Given the description of an element on the screen output the (x, y) to click on. 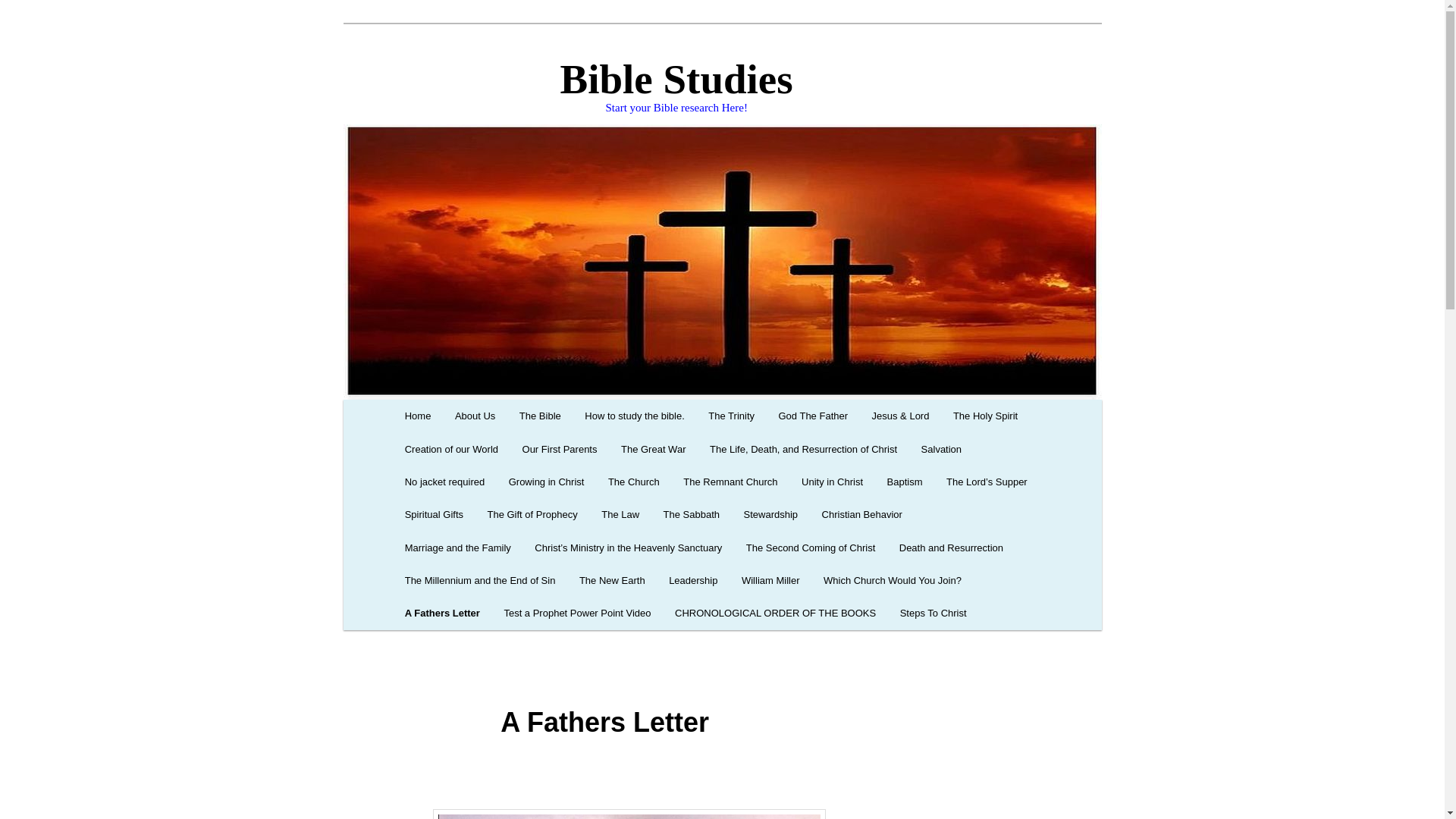
The Second Coming of Christ Element type: text (810, 547)
Christian Behavior Element type: text (861, 514)
Spiritual Gifts Element type: text (433, 514)
The Sabbath Element type: text (691, 514)
Test a Prophet Power Point Video Element type: text (577, 612)
The Holy Spirit Element type: text (985, 415)
About Us Element type: text (474, 415)
Steps To Christ Element type: text (933, 612)
Marriage and the Family Element type: text (457, 547)
Stewardship Element type: text (770, 514)
Growing in Christ Element type: text (546, 481)
Salvation Element type: text (941, 449)
CHRONOLOGICAL ORDER OF THE BOOKS Element type: text (775, 612)
Bible Studies Element type: text (596, 78)
The Bible Element type: text (539, 415)
Baptism Element type: text (904, 481)
Home Element type: text (417, 415)
The Trinity Element type: text (731, 415)
Leadership Element type: text (692, 580)
Our First Parents Element type: text (559, 449)
Death and Resurrection Element type: text (951, 547)
A Fathers Letter Element type: text (442, 612)
Skip to primary content Element type: text (22, 22)
The Law Element type: text (619, 514)
Creation of our World Element type: text (451, 449)
The Life, Death, and Resurrection of Christ Element type: text (803, 449)
Unity in Christ Element type: text (831, 481)
God The Father Element type: text (812, 415)
How to study the bible. Element type: text (634, 415)
No jacket required Element type: text (444, 481)
The New Earth Element type: text (611, 580)
The Millennium and the End of Sin Element type: text (479, 580)
William Miller Element type: text (770, 580)
Which Church Would You Join? Element type: text (891, 580)
The Remnant Church Element type: text (730, 481)
The Great War Element type: text (652, 449)
The Church Element type: text (633, 481)
The Gift of Prophecy Element type: text (532, 514)
Jesus & Lord Element type: text (900, 415)
